Given the description of an element on the screen output the (x, y) to click on. 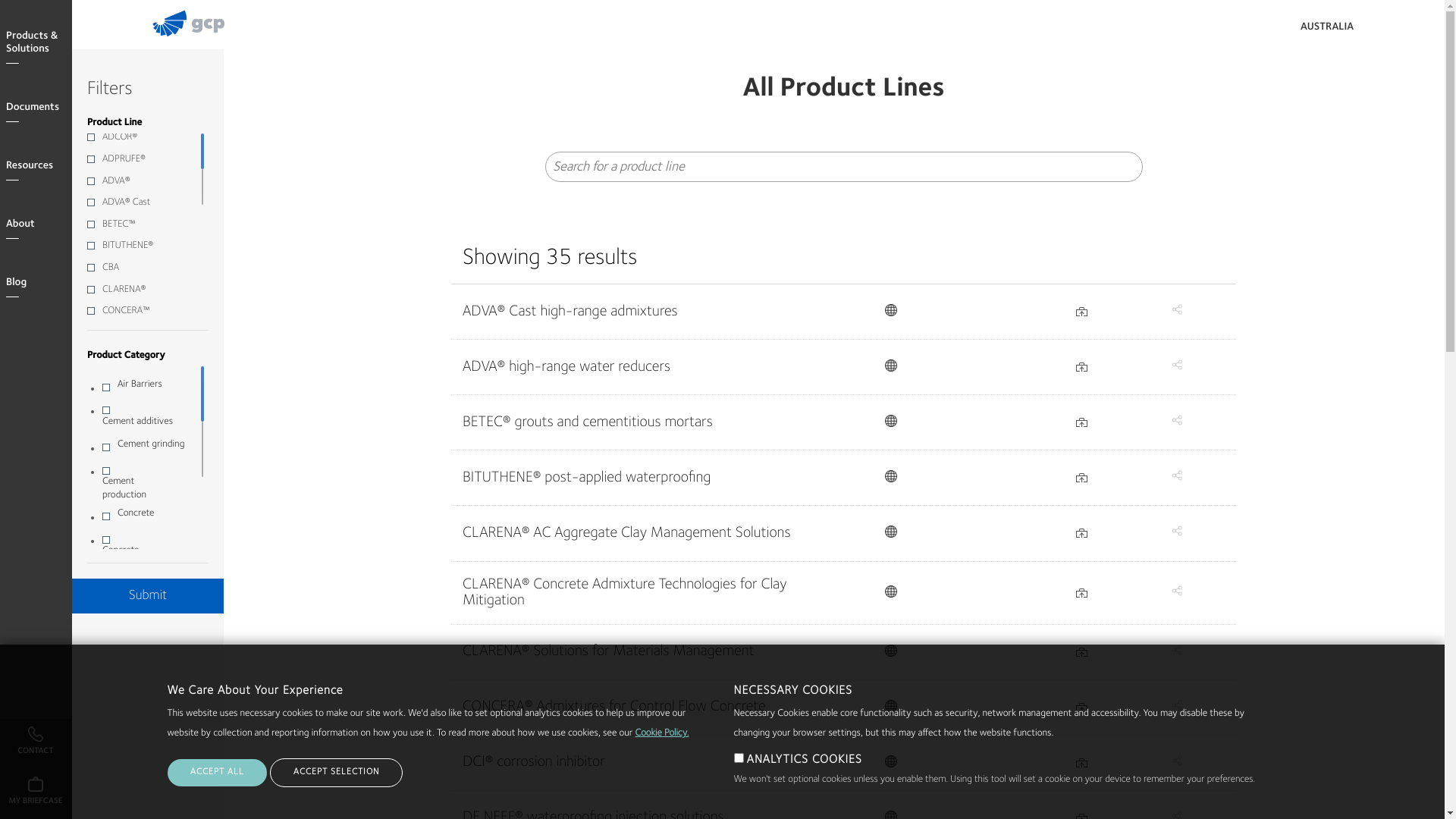
About Element type: text (39, 224)
Search Element type: text (1123, 166)
Resources Element type: text (39, 166)
Submit Element type: text (147, 595)
WITHDRAW CONSENT Element type: text (425, 782)
Documents Element type: text (39, 108)
search Element type: text (1391, 29)
ACCEPT SELECTION Element type: text (335, 772)
CONTACT Element type: text (35, 743)
Cookie Policy. Element type: text (661, 734)
Blog Element type: text (39, 283)
AUSTRALIA Element type: text (1326, 26)
Skip to main navigation Element type: text (0, 0)
Products & Solutions Element type: text (39, 42)
ACCEPT ALL Element type: text (216, 772)
MY BRIEFCASE Element type: text (35, 793)
Product Category Element type: text (126, 355)
Product Line Element type: text (114, 123)
Home Element type: hover (208, 39)
